Given the description of an element on the screen output the (x, y) to click on. 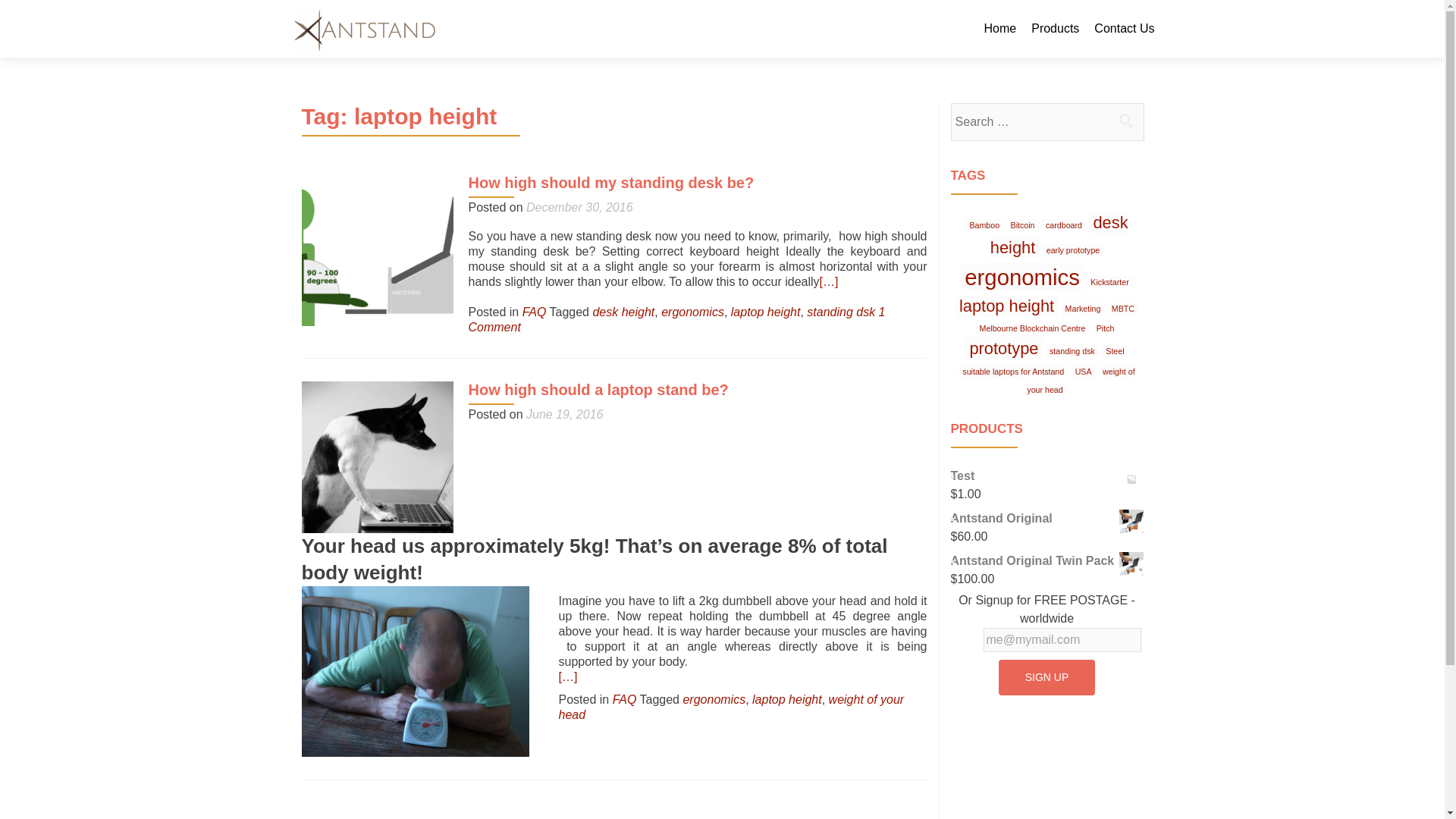
standing dsk (1072, 350)
How high should my standing desk be? (376, 248)
desk height (1059, 234)
desk height (622, 311)
laptop height (1006, 305)
weight of your head (730, 706)
How high should a laptop stand be? (598, 389)
Pitch (1105, 328)
Melbourne Blockchain Centre (1032, 328)
SIGN UP (1047, 677)
Bitcoin (1023, 224)
Search (1125, 120)
ergonomics (713, 698)
December 30, 2016 (579, 206)
cardboard (1064, 224)
